Given the description of an element on the screen output the (x, y) to click on. 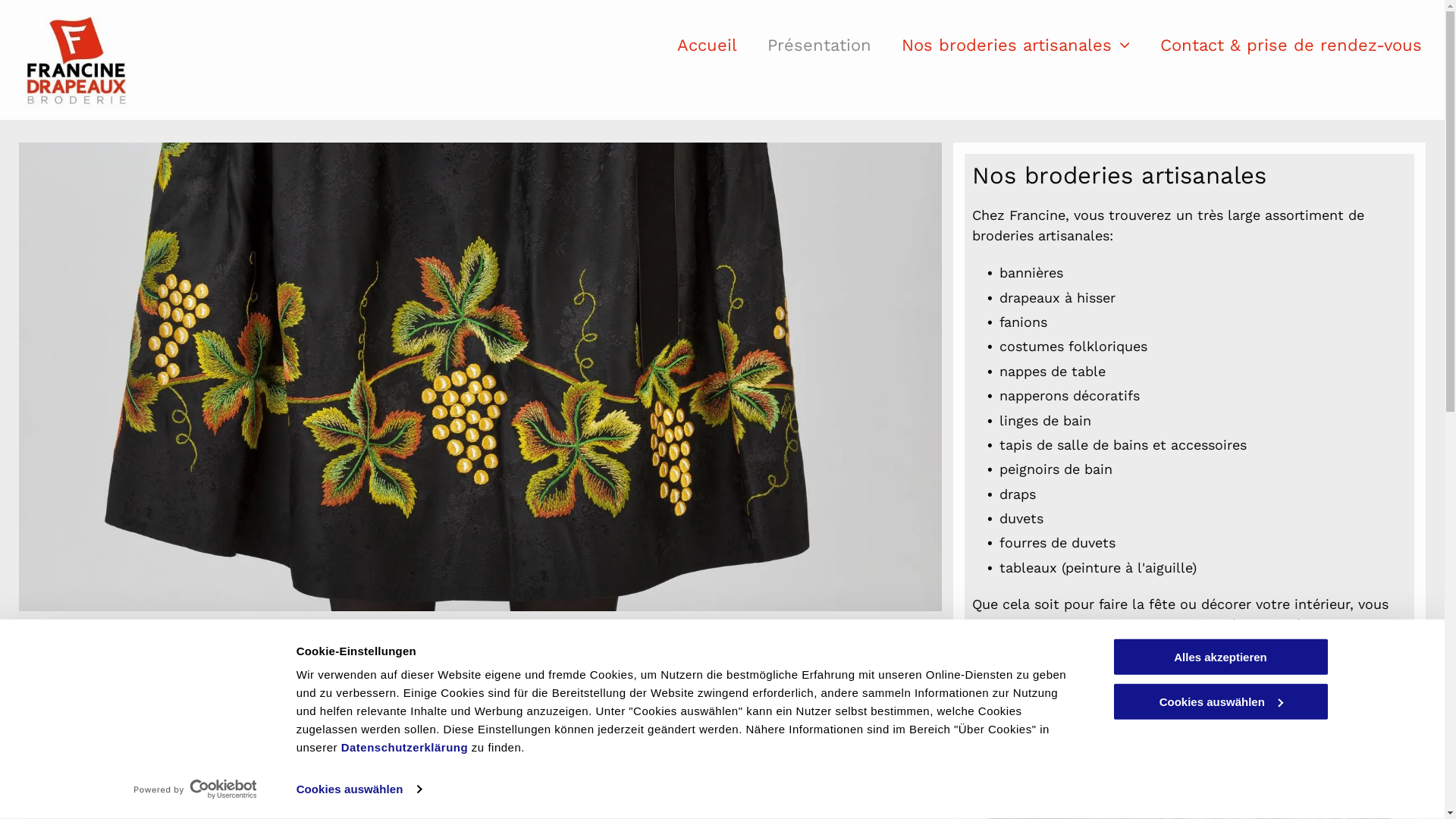
Alles akzeptieren Element type: text (1219, 656)
Accueil Element type: text (707, 44)
Contact & prise de rendez-vous Element type: text (1291, 44)
Nos broderies artisanales Element type: text (1015, 44)
